Given the description of an element on the screen output the (x, y) to click on. 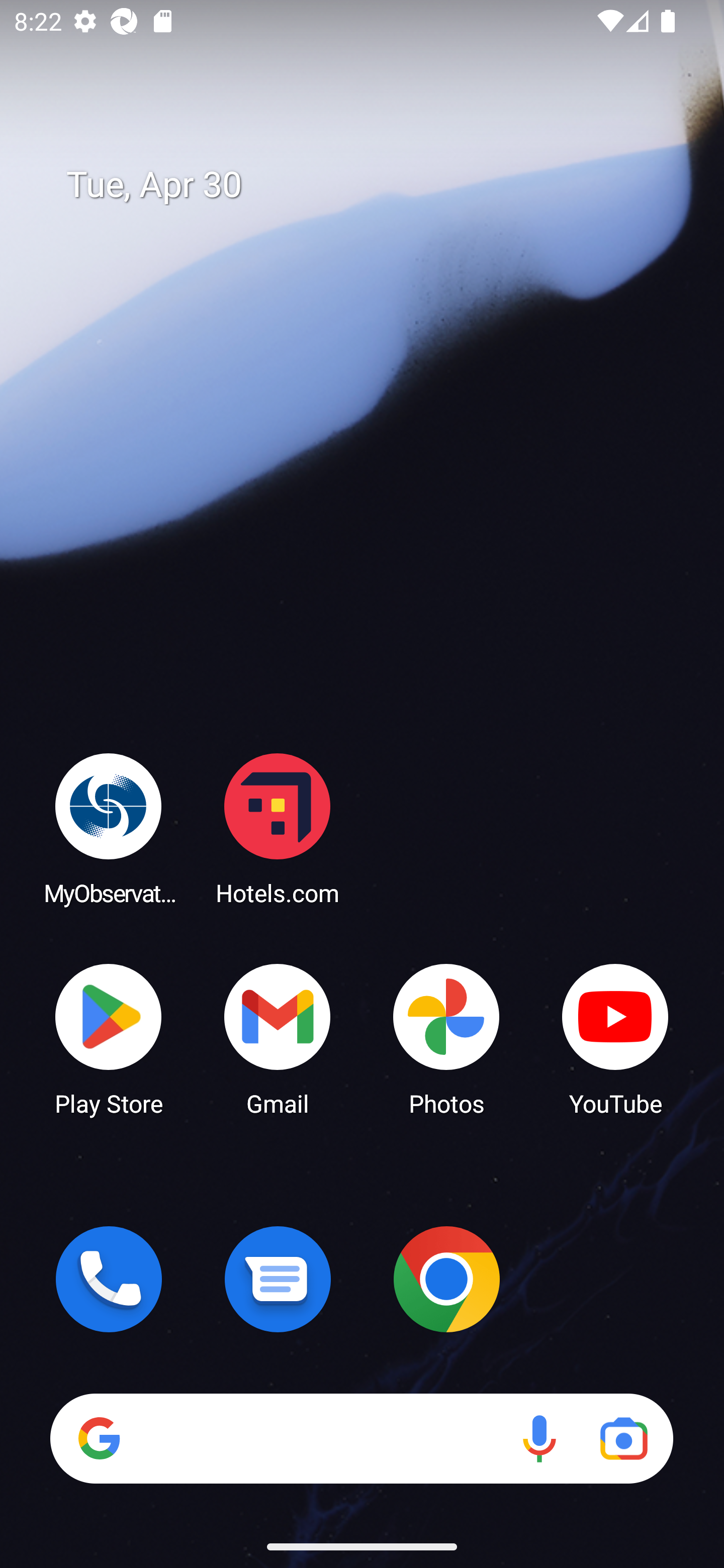
Tue, Apr 30 (375, 184)
MyObservatory (108, 828)
Hotels.com (277, 828)
Play Store (108, 1038)
Gmail (277, 1038)
Photos (445, 1038)
YouTube (615, 1038)
Phone (108, 1279)
Messages (277, 1279)
Chrome (446, 1279)
Voice search (539, 1438)
Google Lens (623, 1438)
